Given the description of an element on the screen output the (x, y) to click on. 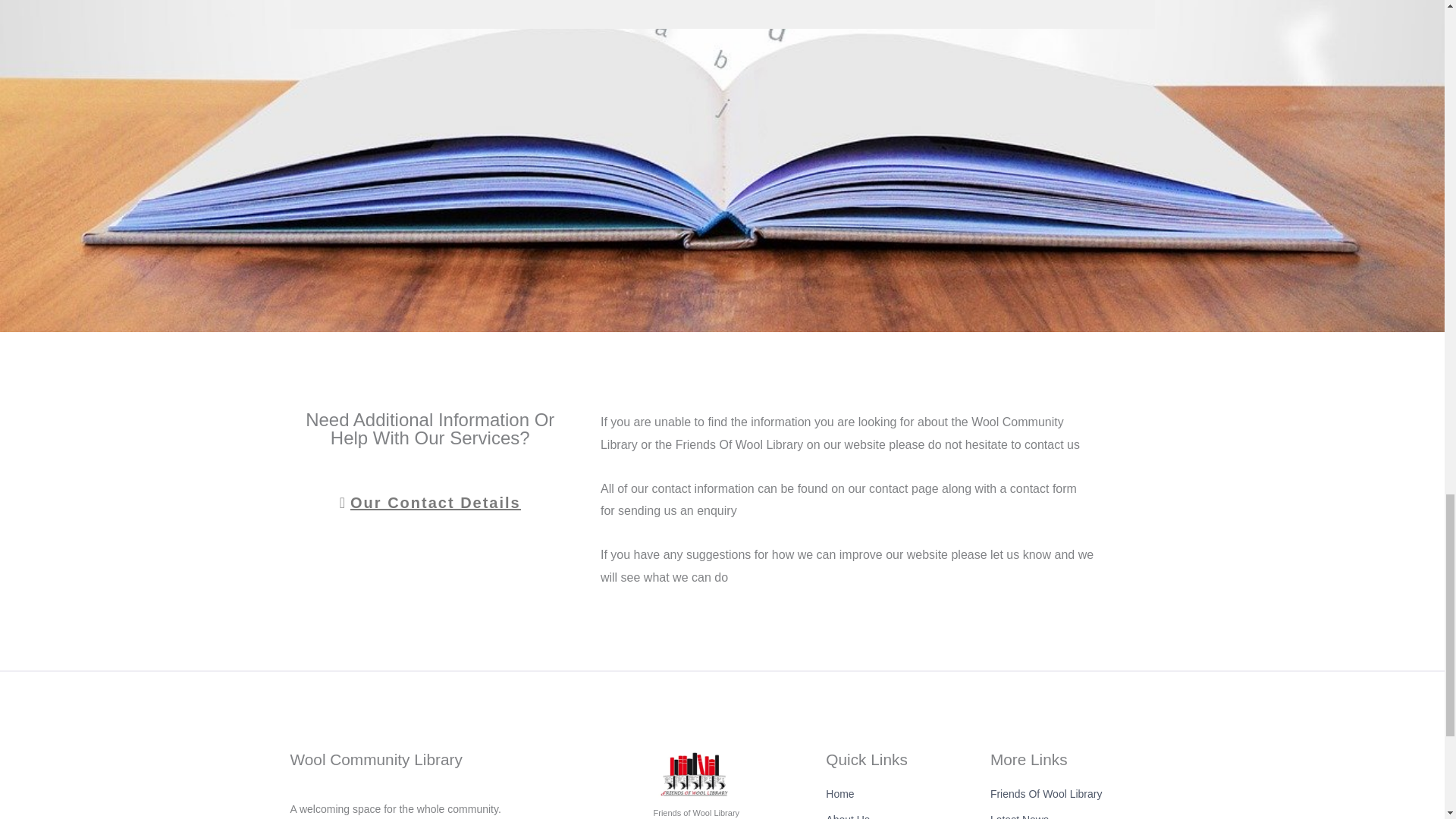
Our Contact Details (430, 502)
Friends Of Wool Library (1072, 794)
Home (907, 794)
About Us (907, 814)
